Given the description of an element on the screen output the (x, y) to click on. 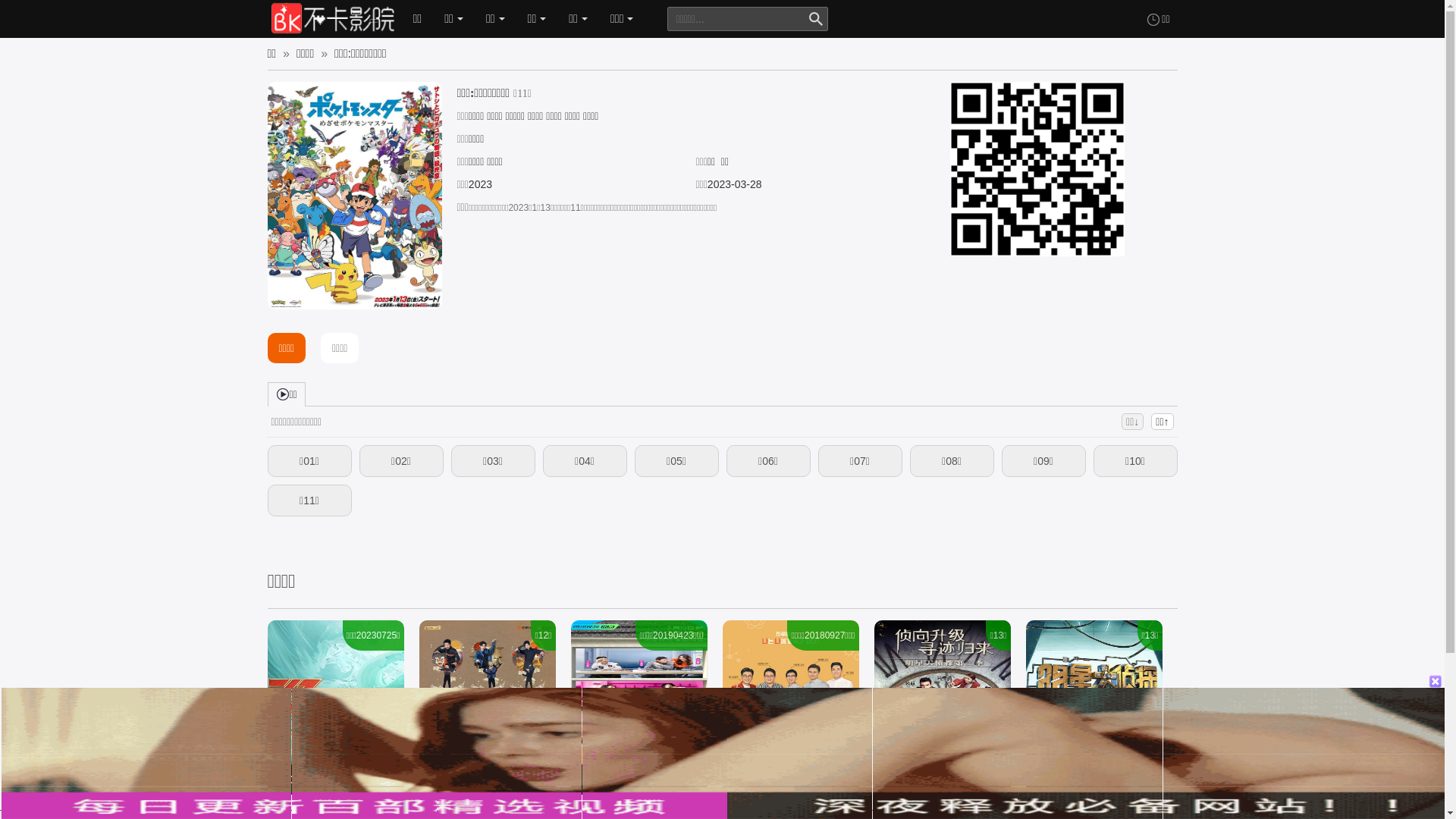
0 Element type: text (18, 15)
2023 Element type: text (480, 184)
